Given the description of an element on the screen output the (x, y) to click on. 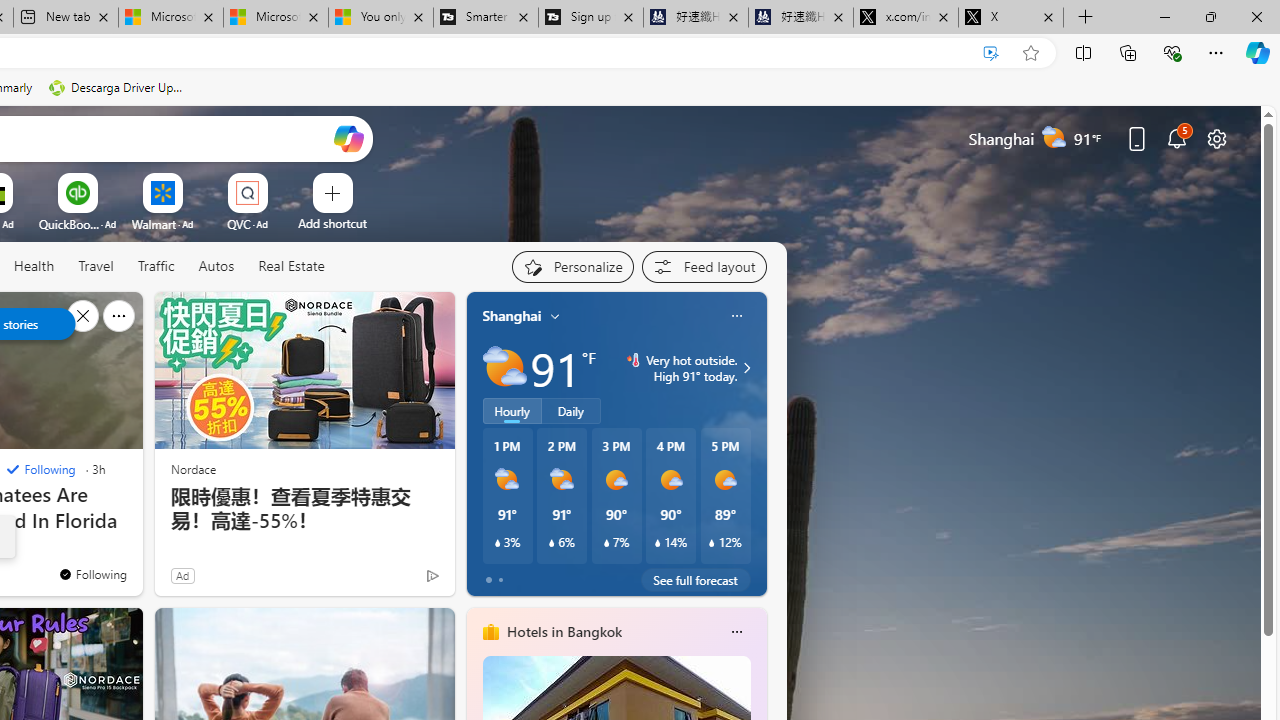
Health (33, 267)
Hourly (511, 411)
Smarter Living | T3 (485, 17)
